Given the description of an element on the screen output the (x, y) to click on. 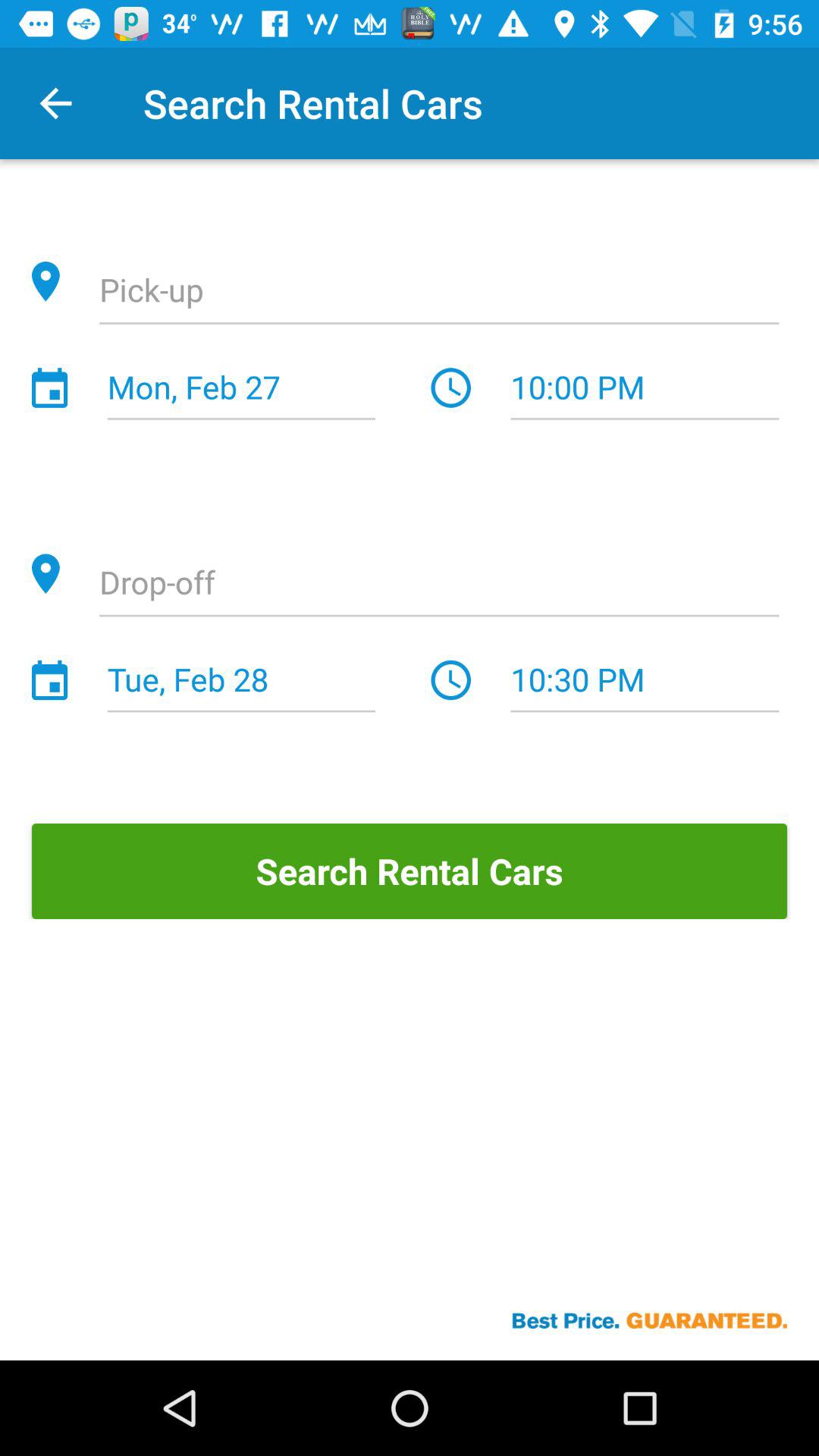
set a time to drop off your rental car (439, 584)
